Given the description of an element on the screen output the (x, y) to click on. 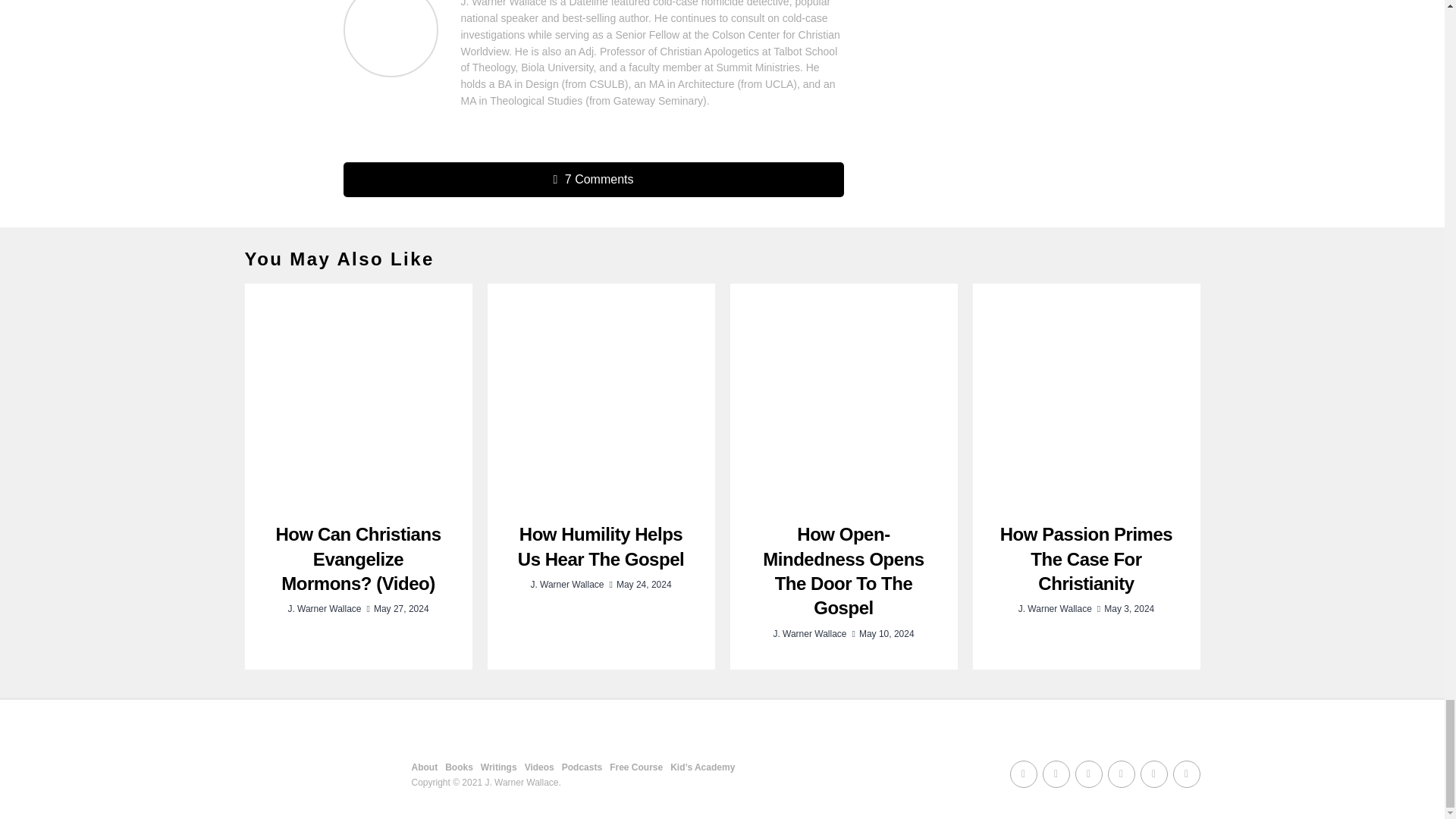
Posts by J. Warner Wallace (566, 584)
Posts by J. Warner Wallace (323, 608)
